Given the description of an element on the screen output the (x, y) to click on. 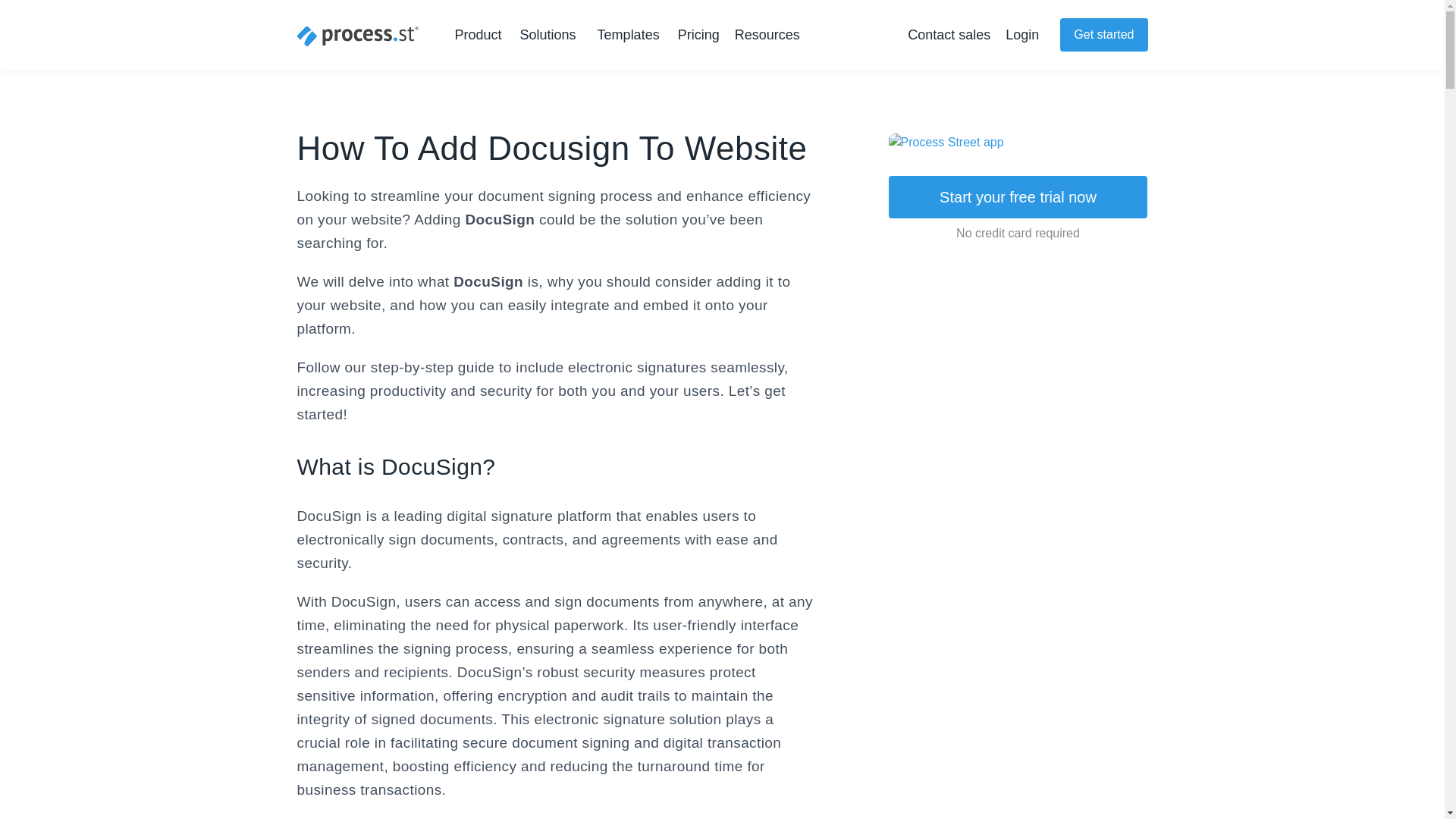
Resources (770, 34)
Login (1022, 34)
Product (481, 34)
Try Process Street for free (1103, 34)
Process Street (358, 35)
Contact Process Street sales (948, 34)
Templates (627, 34)
Pricing (698, 34)
Solutions (550, 34)
Contact sales (948, 34)
